Given the description of an element on the screen output the (x, y) to click on. 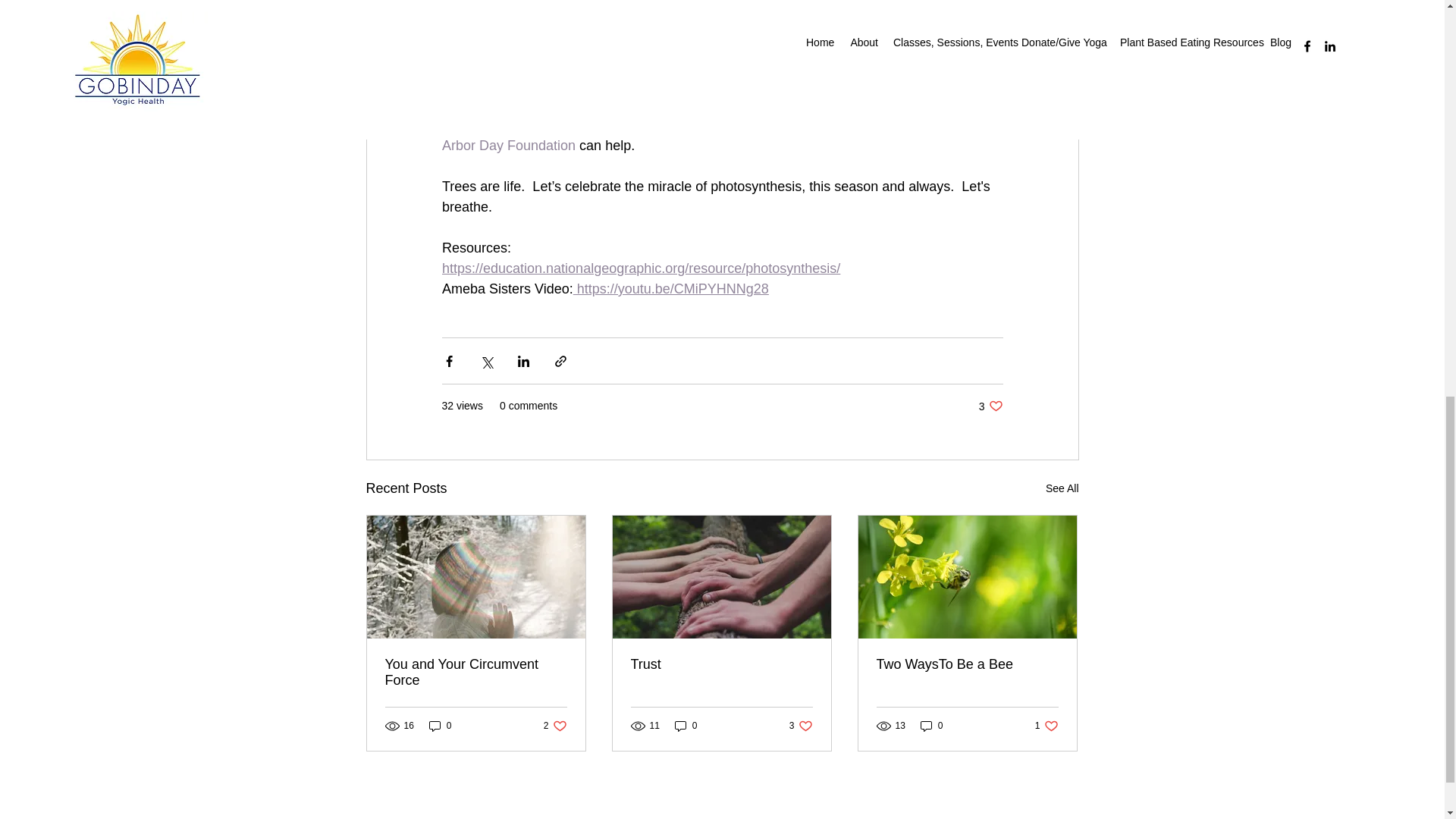
0 (931, 726)
You and Your Circumvent Force (476, 672)
Two WaysTo Be a Bee (990, 405)
0 (800, 726)
Arbor Day Foundation (967, 664)
See All (440, 726)
Diana Beresford-Kroeger (508, 145)
